Given the description of an element on the screen output the (x, y) to click on. 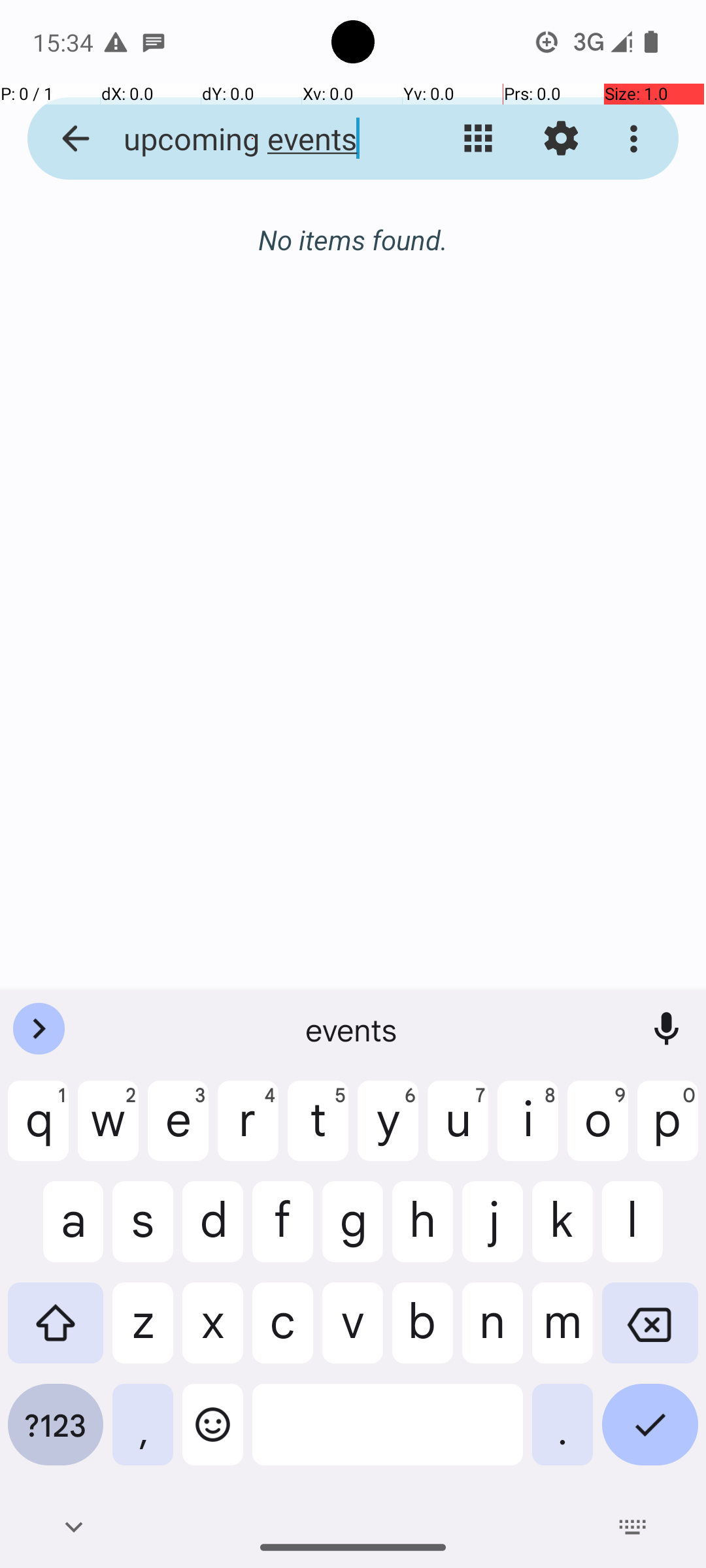
upcoming events Element type: android.widget.EditText (252, 138)
events Element type: android.widget.FrameLayout (352, 1028)
